Given the description of an element on the screen output the (x, y) to click on. 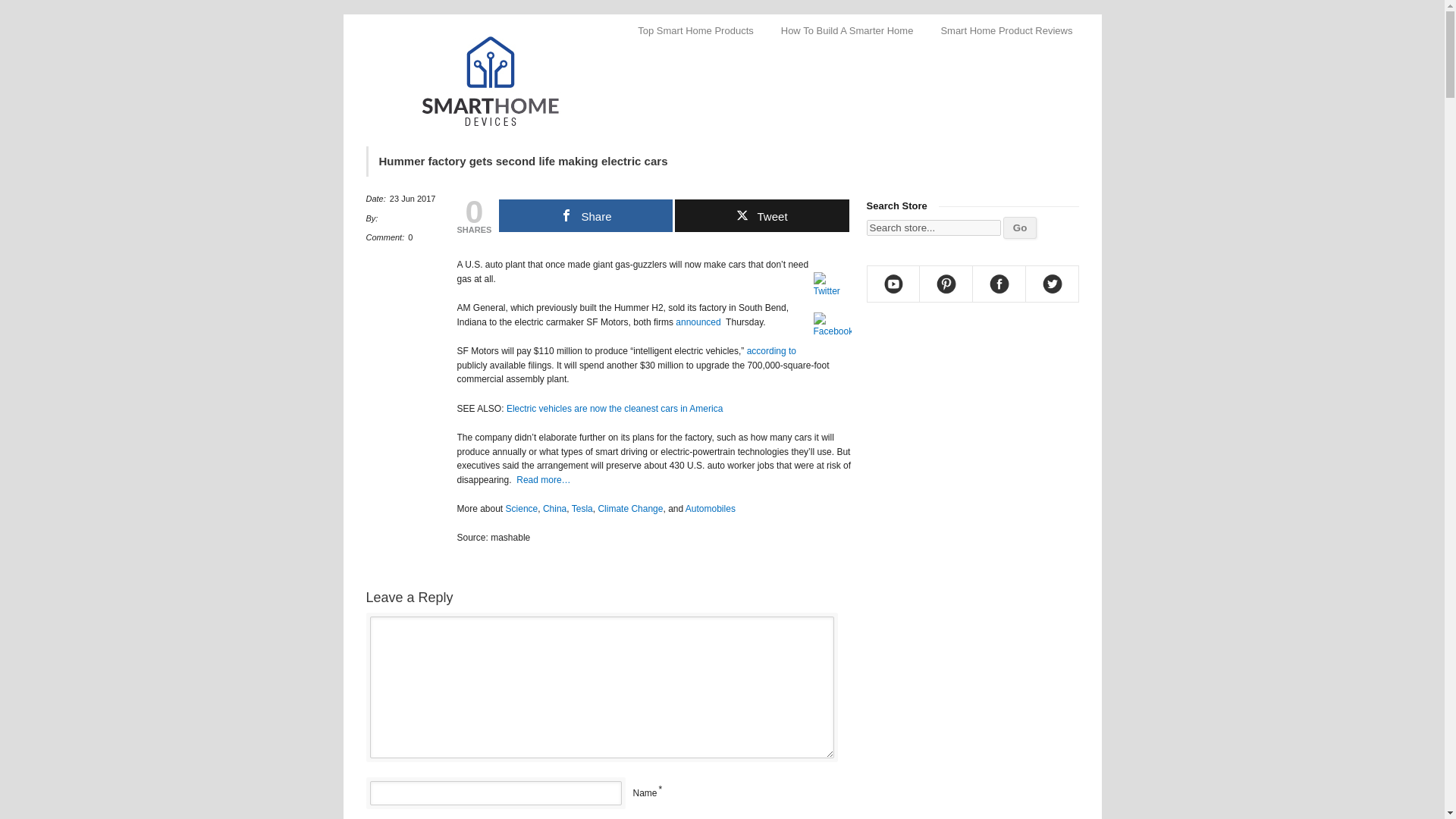
Search store... (933, 227)
Smart Home Product Reviews (1006, 30)
Top Smart Home Products (695, 30)
How To Build A Smarter Home (847, 30)
Tesla (582, 508)
Science (521, 508)
according to (771, 350)
Electric vehicles are now the cleanest cars in America (614, 408)
Automobiles (710, 508)
Go (1019, 228)
